Given the description of an element on the screen output the (x, y) to click on. 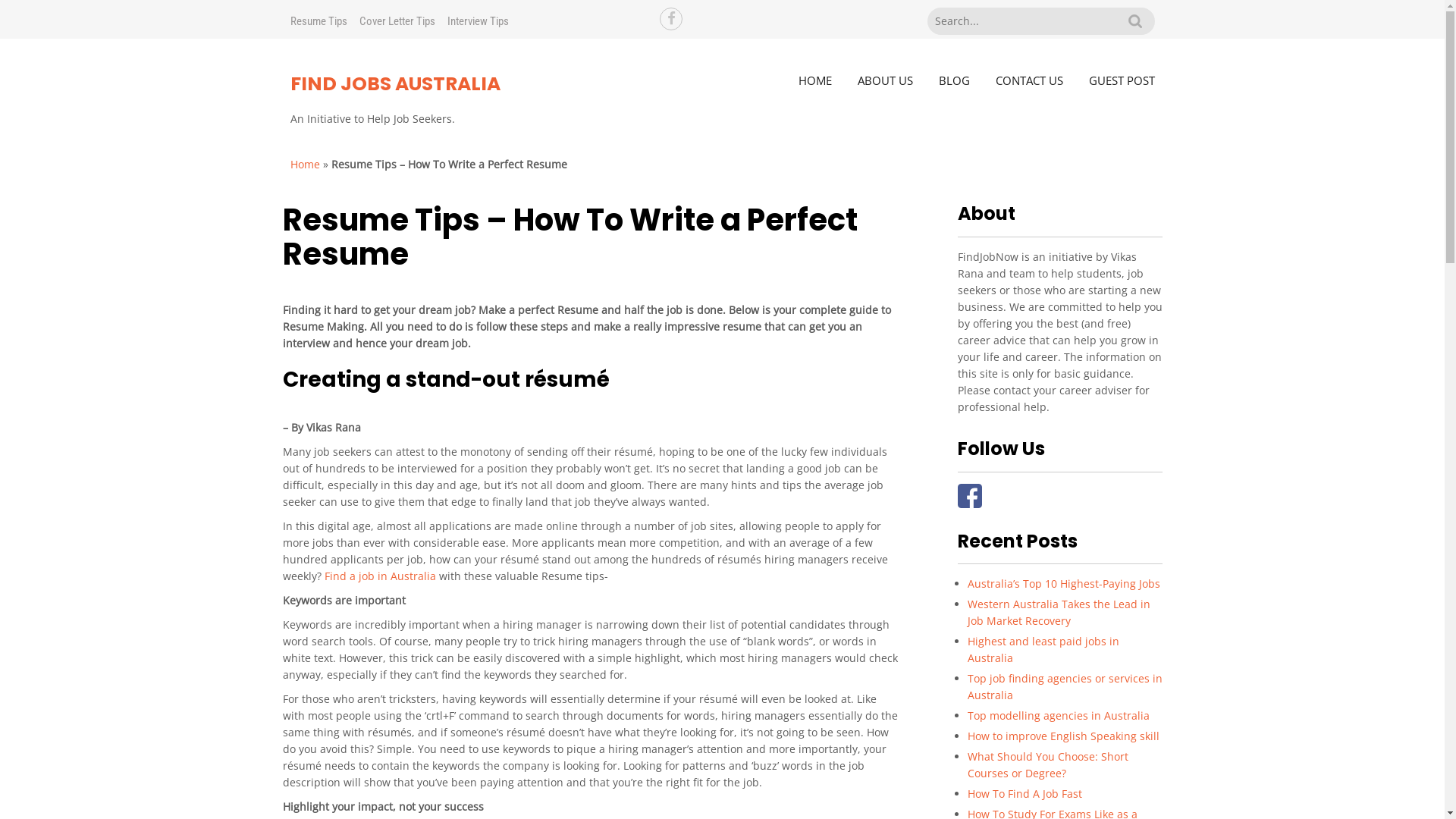
How To Find A Job Fast Element type: text (1024, 793)
Search Element type: text (1134, 20)
Top job finding agencies or services in Australia Element type: text (1064, 686)
Find a job in Australia Element type: text (380, 575)
Home Element type: text (304, 163)
Resume Tips Element type: text (317, 21)
GUEST POST Element type: text (1120, 80)
How to improve English Speaking skill Element type: text (1063, 735)
Western Australia Takes the Lead in Job Market Recovery Element type: text (1058, 611)
Top modelling agencies in Australia Element type: text (1058, 715)
ABOUT US Element type: text (885, 80)
HOME Element type: text (815, 80)
Cover Letter Tips Element type: text (397, 21)
CONTACT US Element type: text (1029, 80)
BLOG Element type: text (953, 80)
FIND JOBS AUSTRALIA Element type: text (394, 83)
Interview Tips Element type: text (477, 21)
Highest and least paid jobs in Australia Element type: text (1043, 649)
What Should You Choose: Short Courses or Degree? Element type: text (1047, 764)
